Given the description of an element on the screen output the (x, y) to click on. 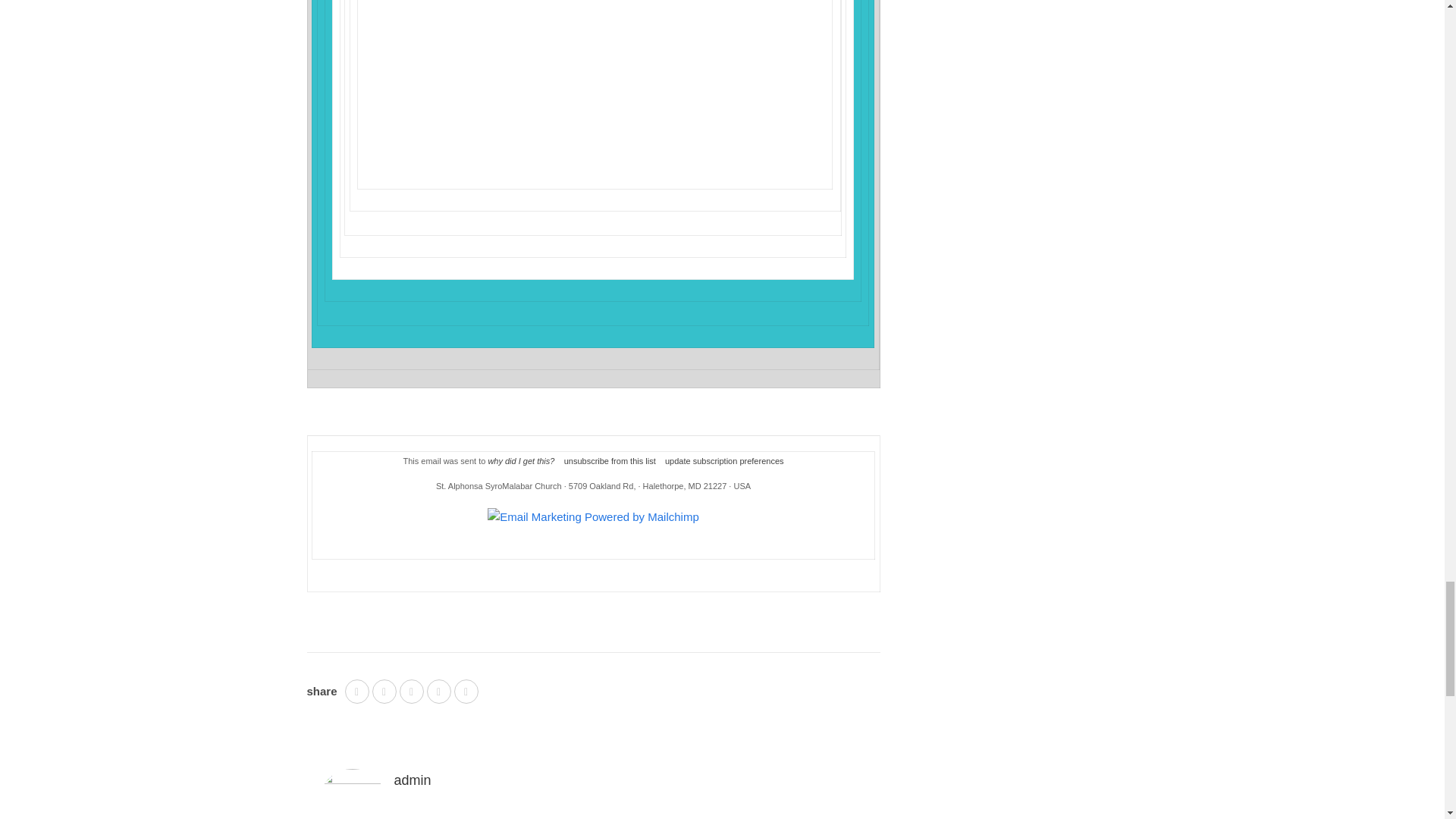
Posts by admin (412, 780)
Mailchimp Email Marketing (592, 516)
